Given the description of an element on the screen output the (x, y) to click on. 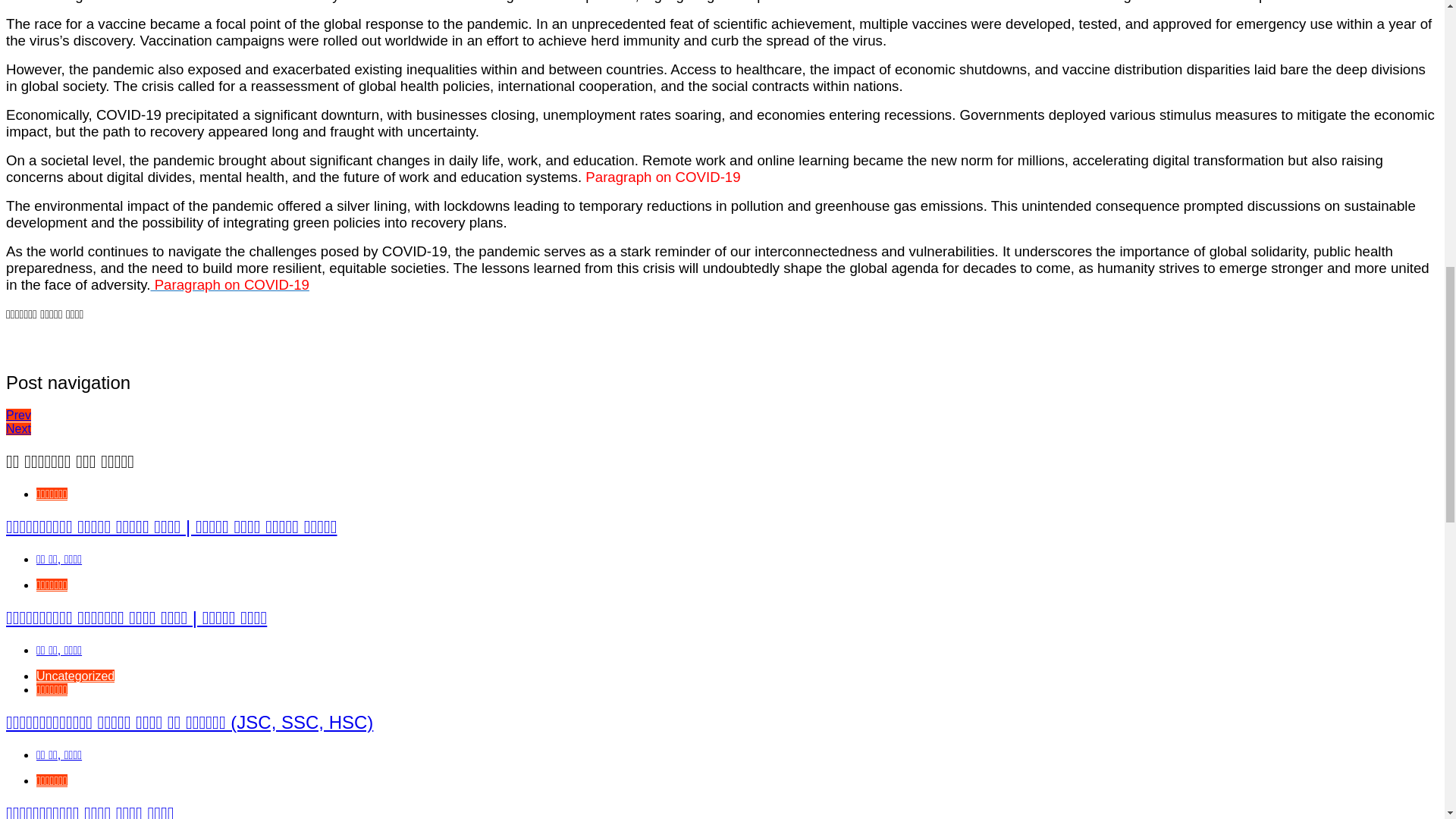
Paragraph on COVID-19 (228, 284)
